Given the description of an element on the screen output the (x, y) to click on. 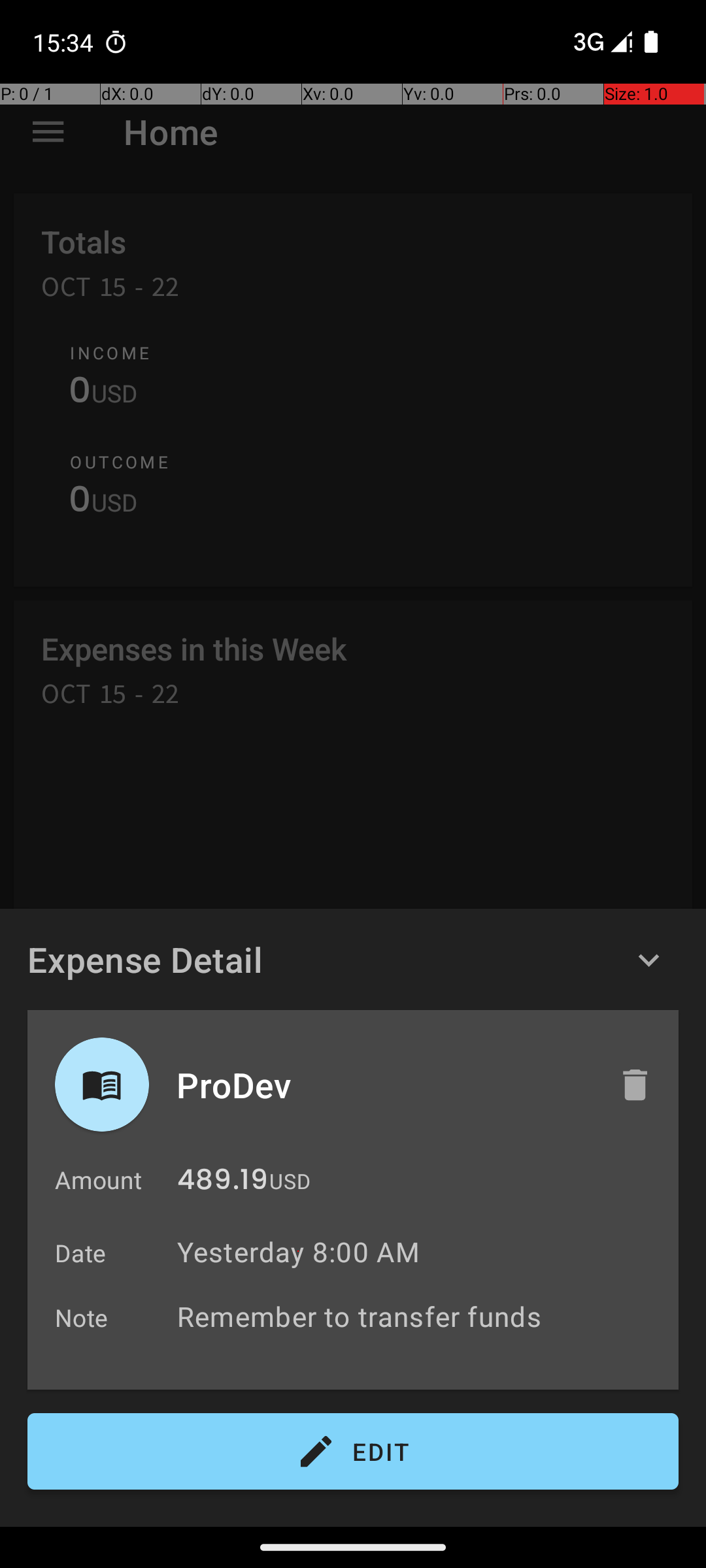
ProDev Element type: android.widget.TextView (383, 1084)
489.19 Element type: android.widget.TextView (222, 1182)
Yesterday 8:00 AM Element type: android.widget.TextView (298, 1251)
